Given the description of an element on the screen output the (x, y) to click on. 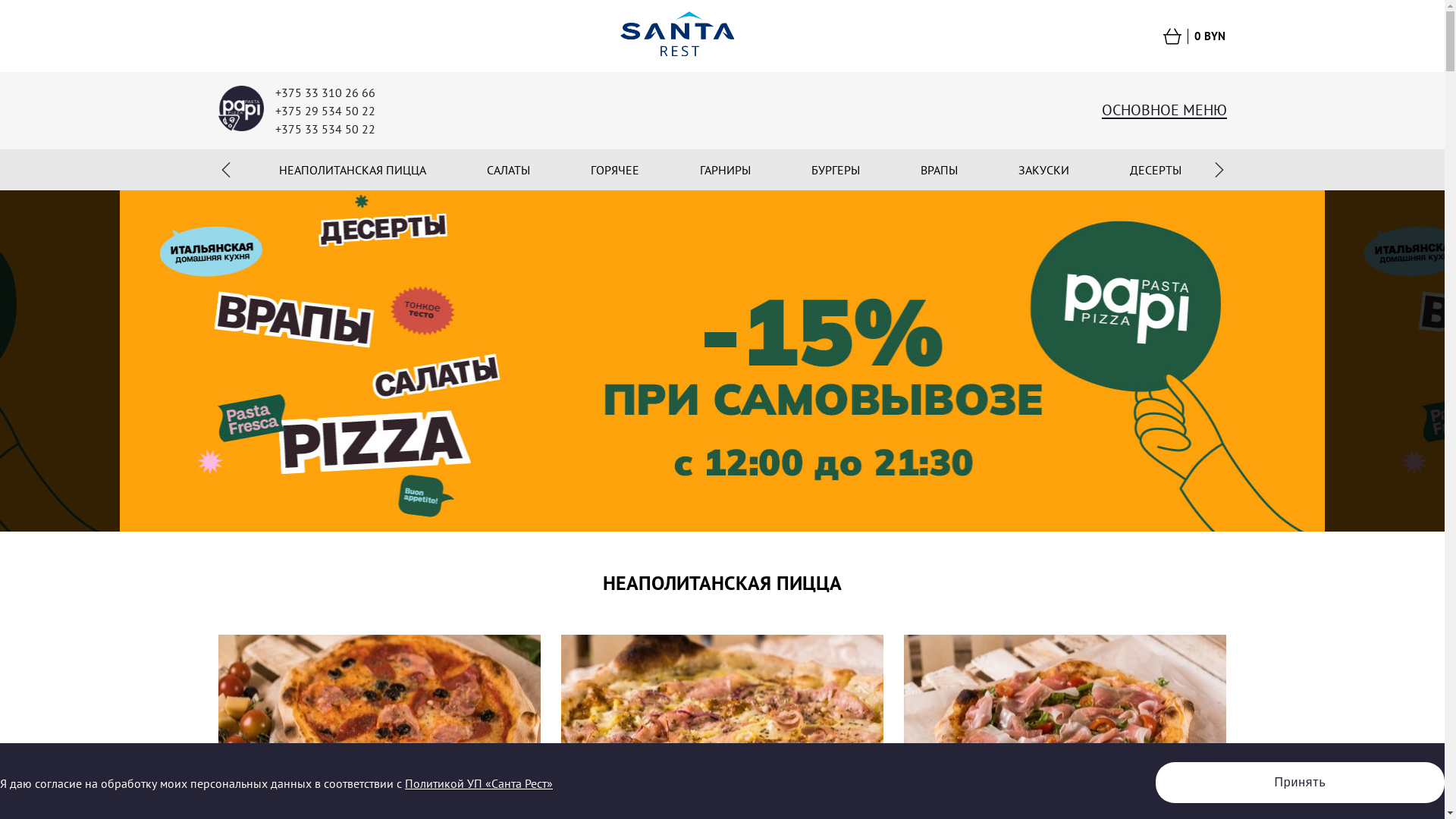
+375 33 310 26 66
+375 29 534 50 22
+375 33 534 50 22 Element type: text (324, 110)
Previous Element type: text (225, 169)
0 BYN Element type: text (1180, 36)
Next Element type: text (1218, 169)
